Given the description of an element on the screen output the (x, y) to click on. 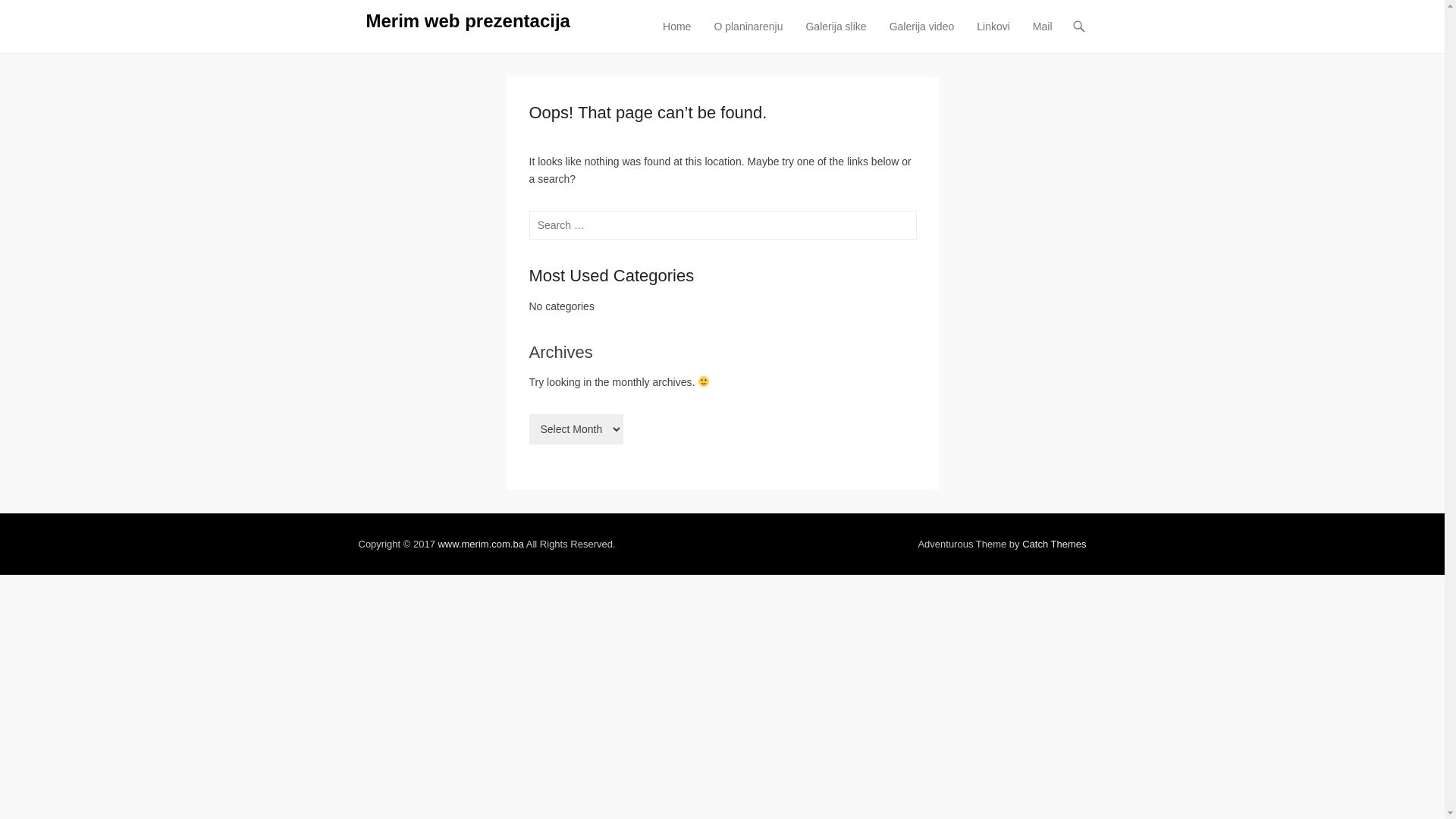
www.merim.com.ba Element type: text (480, 543)
Skip to content Element type: text (690, 27)
Galerija slike Element type: text (835, 35)
Catch Themes Element type: text (1053, 543)
Mail Element type: text (1042, 35)
Linkovi Element type: text (993, 35)
Home Element type: text (676, 35)
Galerija video Element type: text (921, 35)
Merim web prezentacija Element type: text (467, 20)
O planinarenju Element type: text (748, 35)
Search Element type: text (32, 17)
